Given the description of an element on the screen output the (x, y) to click on. 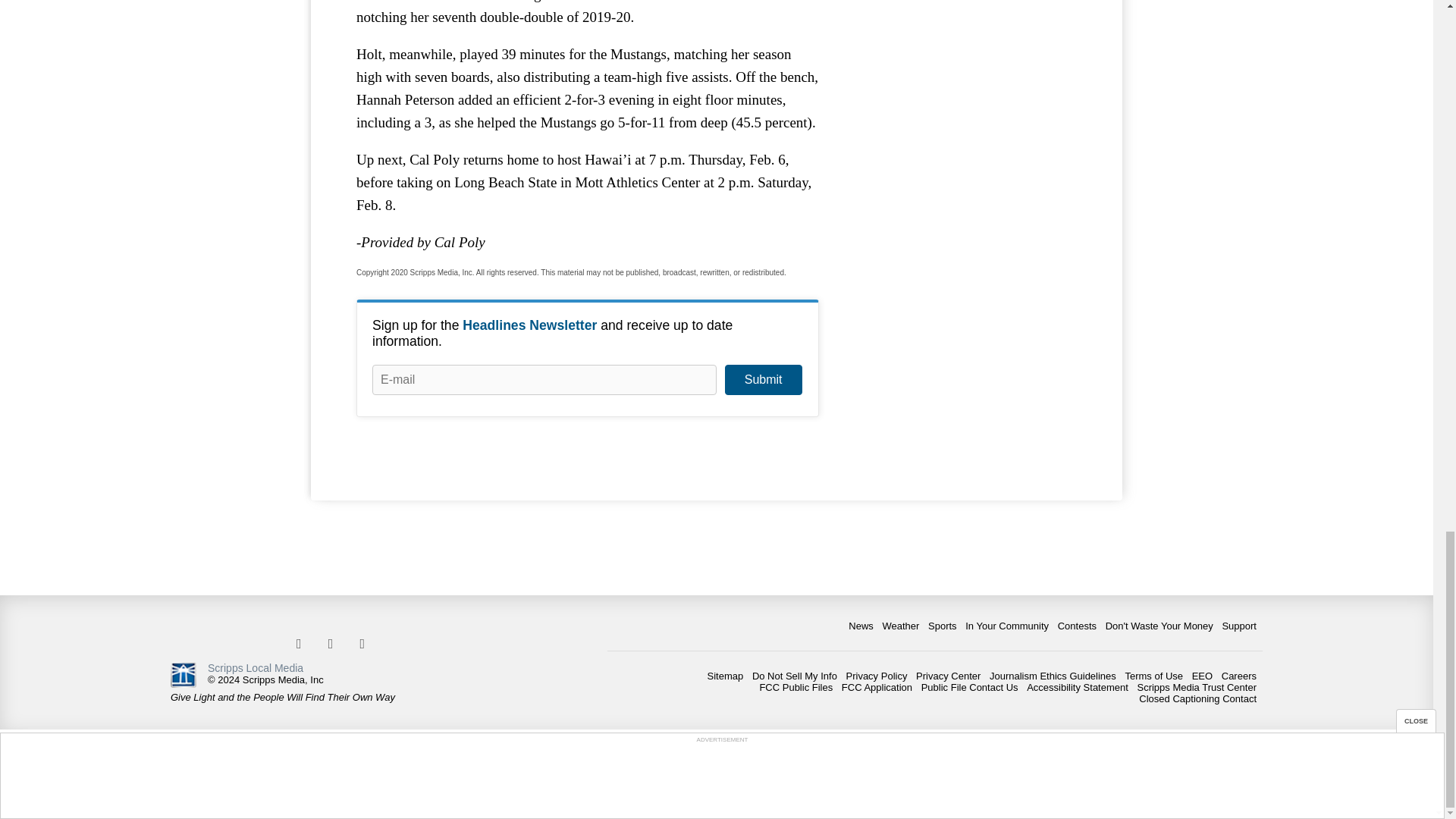
Submit (763, 379)
